Given the description of an element on the screen output the (x, y) to click on. 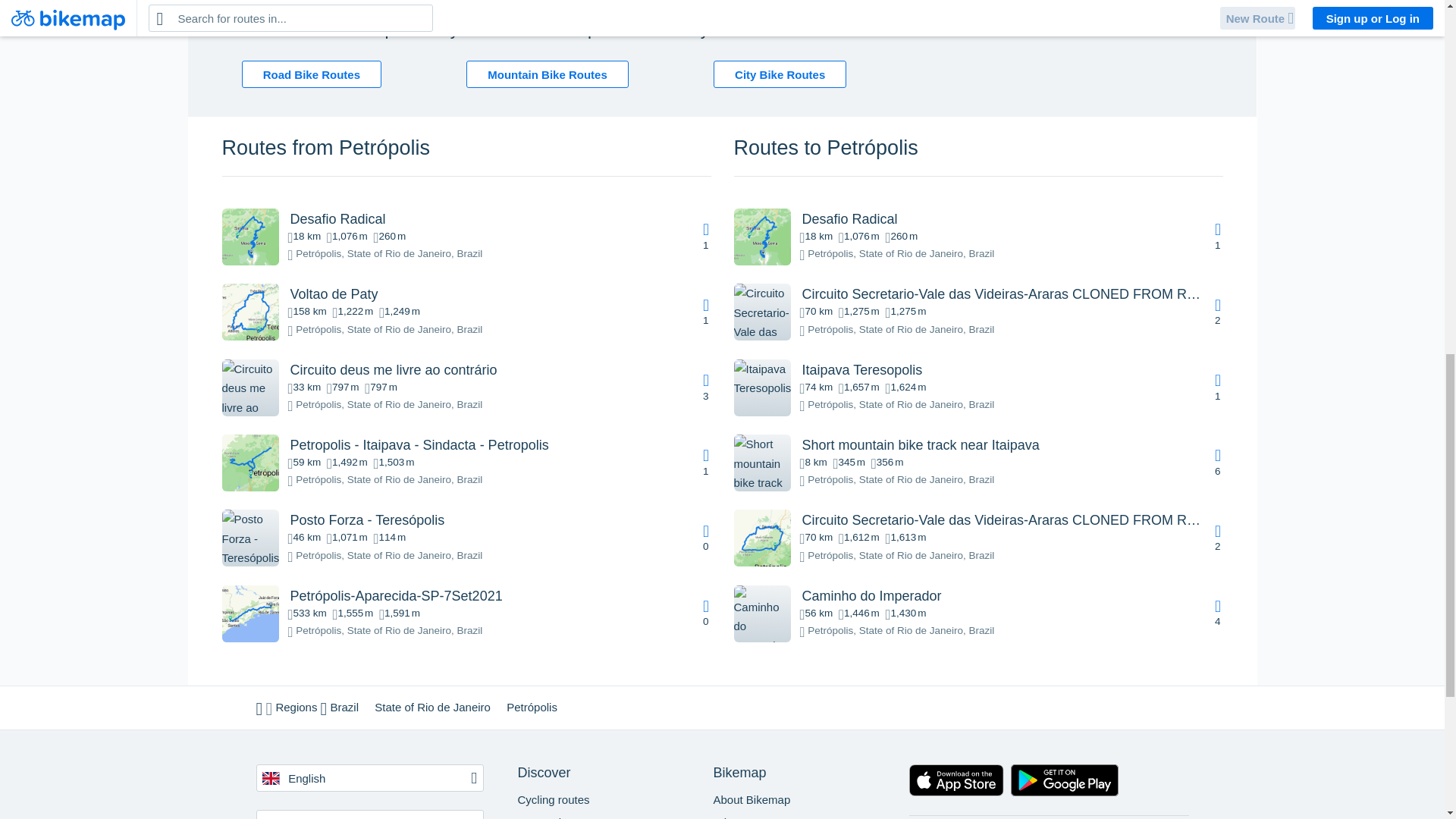
Download on the App Store (955, 783)
Road Bike Routes (311, 73)
City Bike Routes (779, 73)
Mountain Bike Routes (546, 73)
Get it on Google Play (1064, 783)
